Given the description of an element on the screen output the (x, y) to click on. 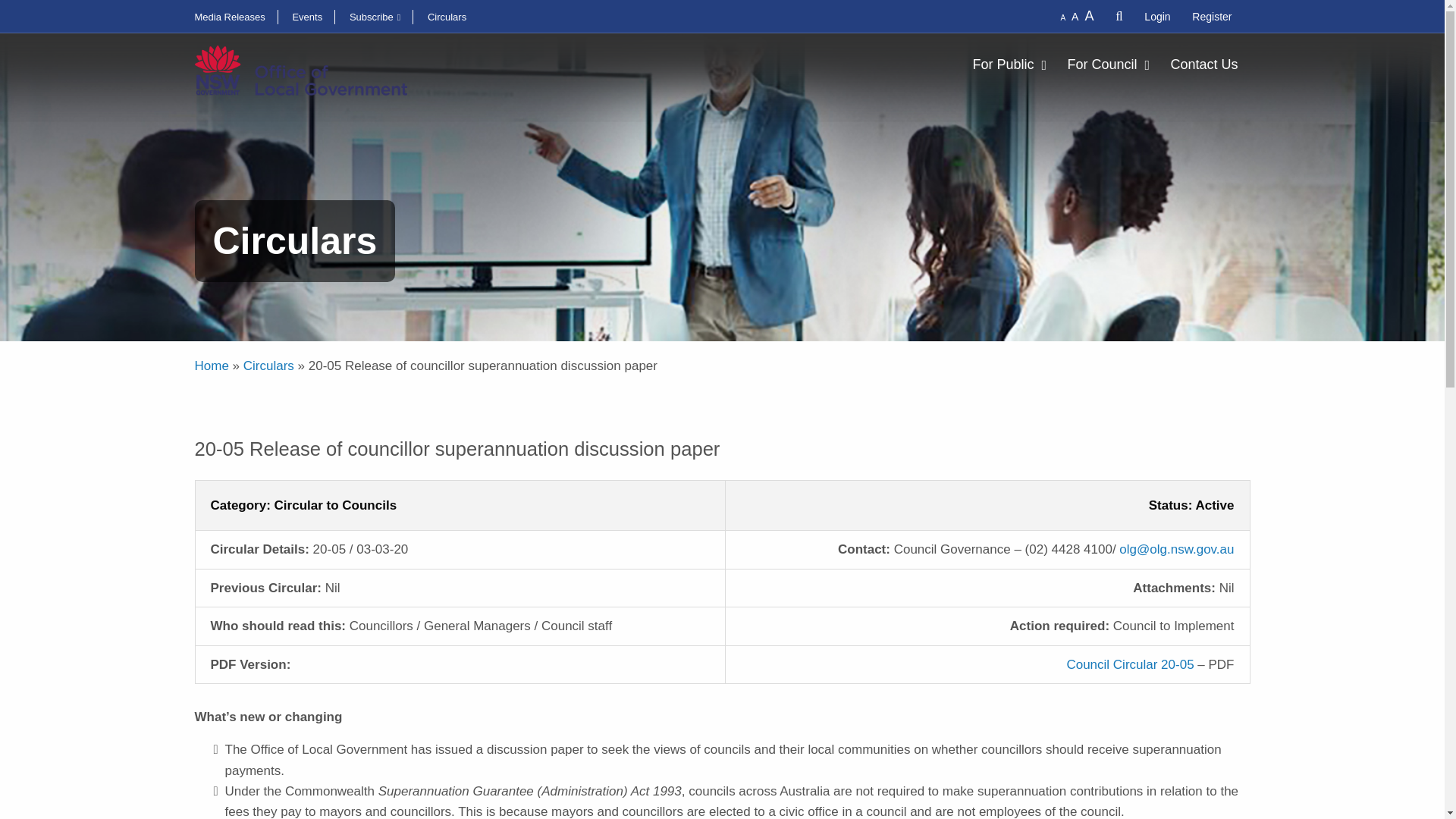
Circulars (453, 16)
For Public (1011, 64)
Subscribe (381, 16)
For Council (1110, 64)
Contact Us (1201, 64)
Events (313, 16)
Login (1157, 16)
A (1065, 18)
Home (210, 365)
Media Releases (235, 16)
Circulars (268, 365)
Register (1211, 16)
